Given the description of an element on the screen output the (x, y) to click on. 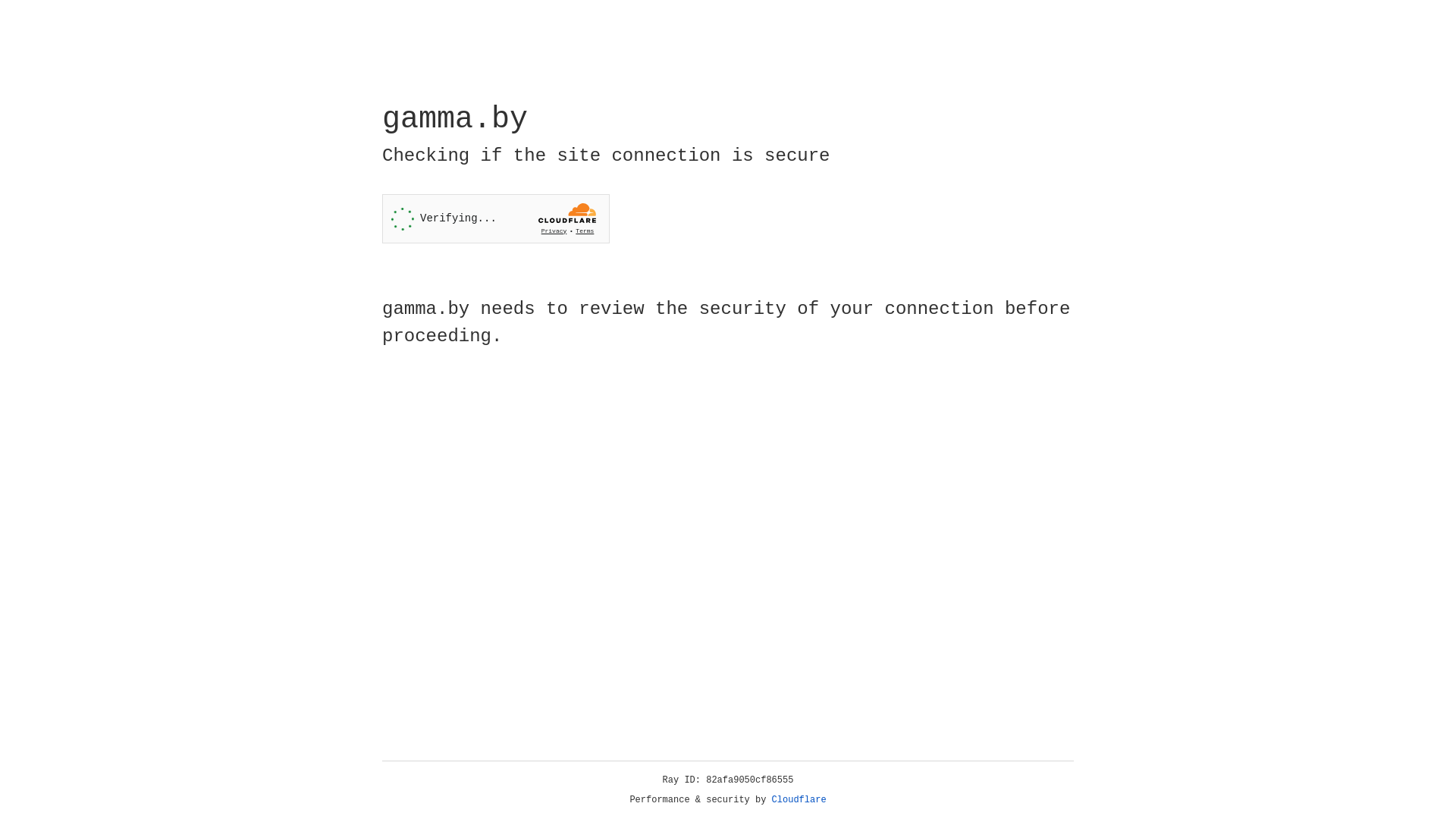
Widget containing a Cloudflare security challenge Element type: hover (495, 218)
Cloudflare Element type: text (798, 799)
